Given the description of an element on the screen output the (x, y) to click on. 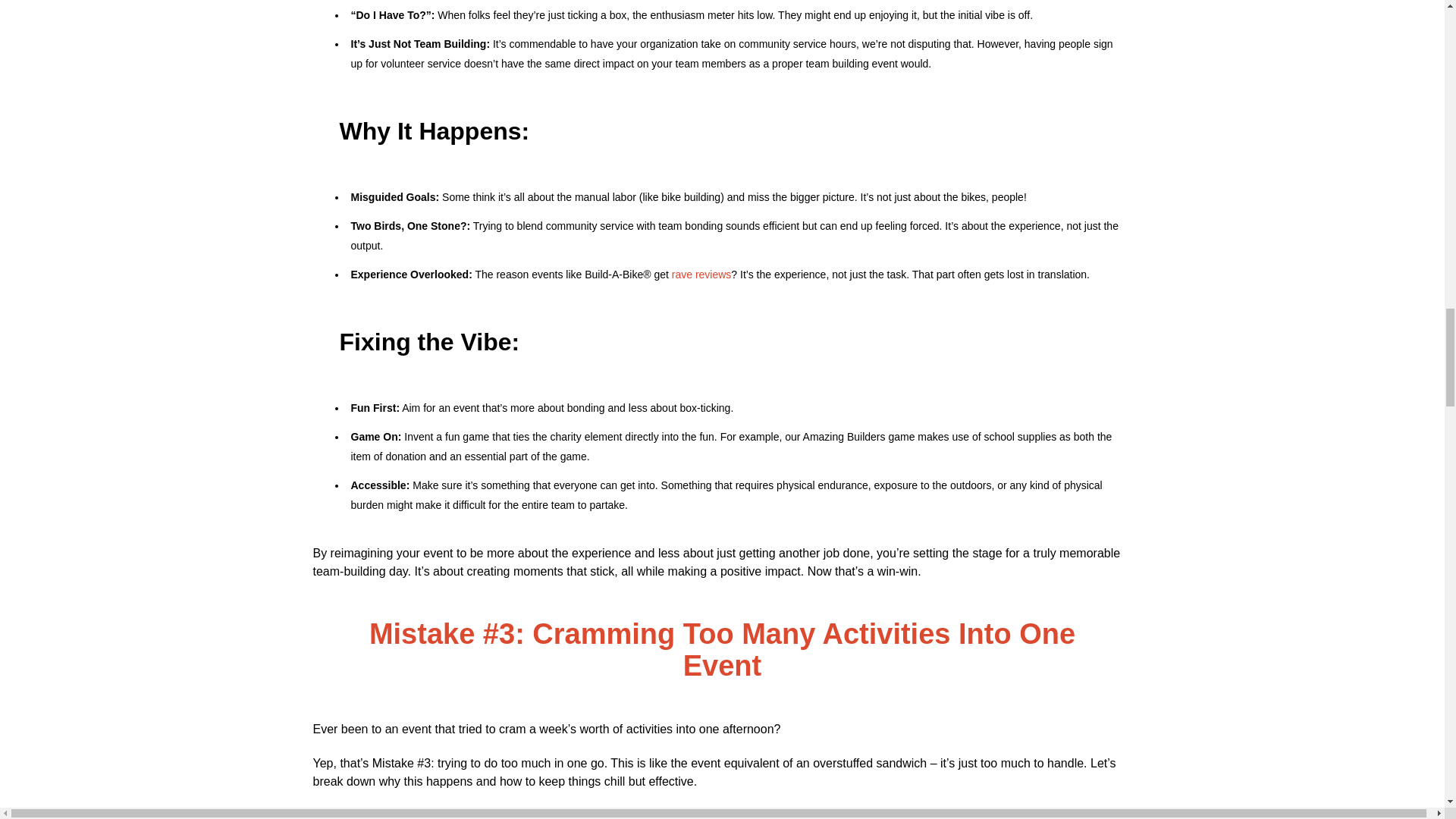
rave reviews (701, 274)
